Given the description of an element on the screen output the (x, y) to click on. 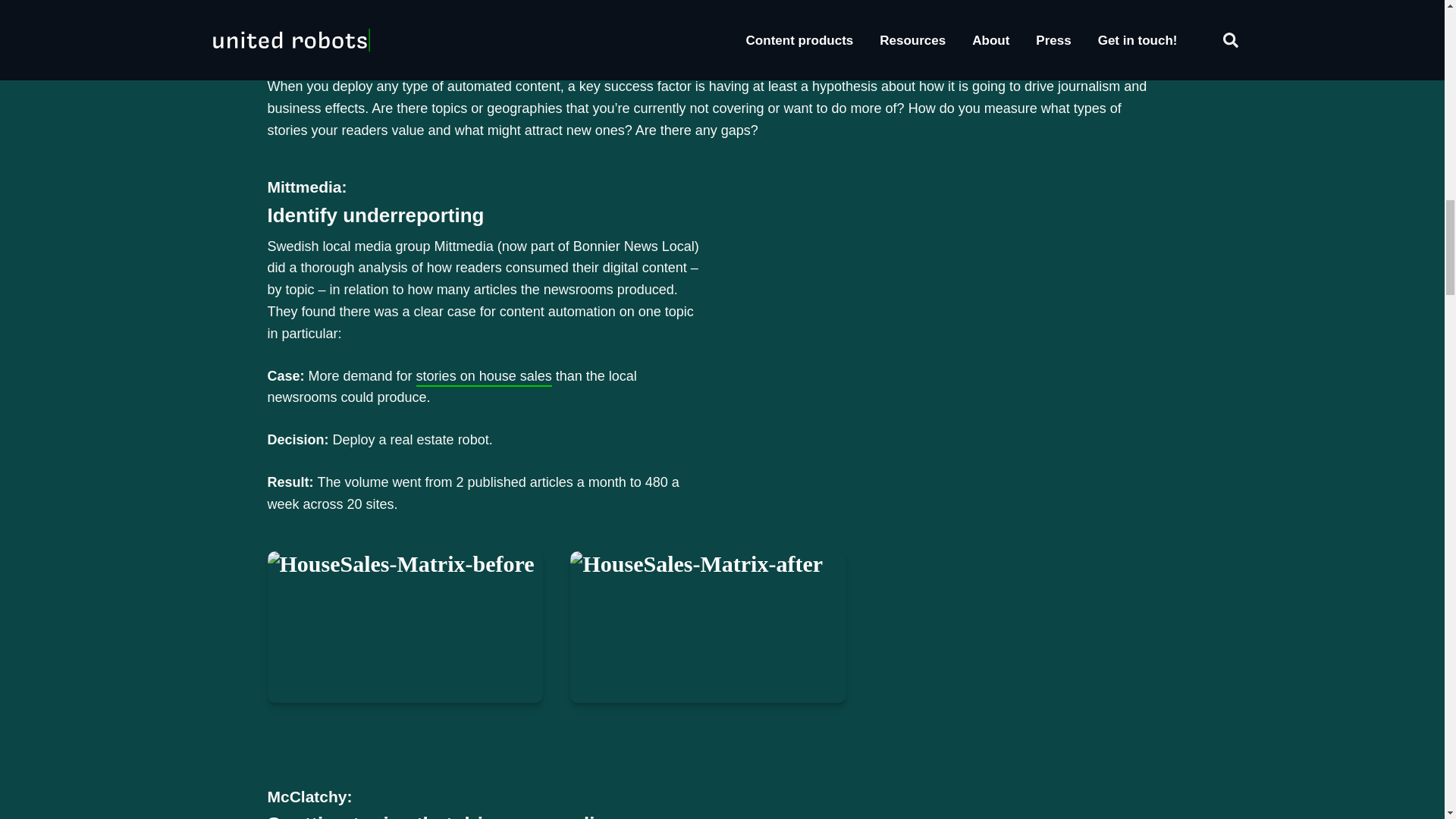
HouseSales-Matrix-before (404, 626)
HouseSales-Matrix-after (707, 626)
stories on house sales (483, 376)
